Given the description of an element on the screen output the (x, y) to click on. 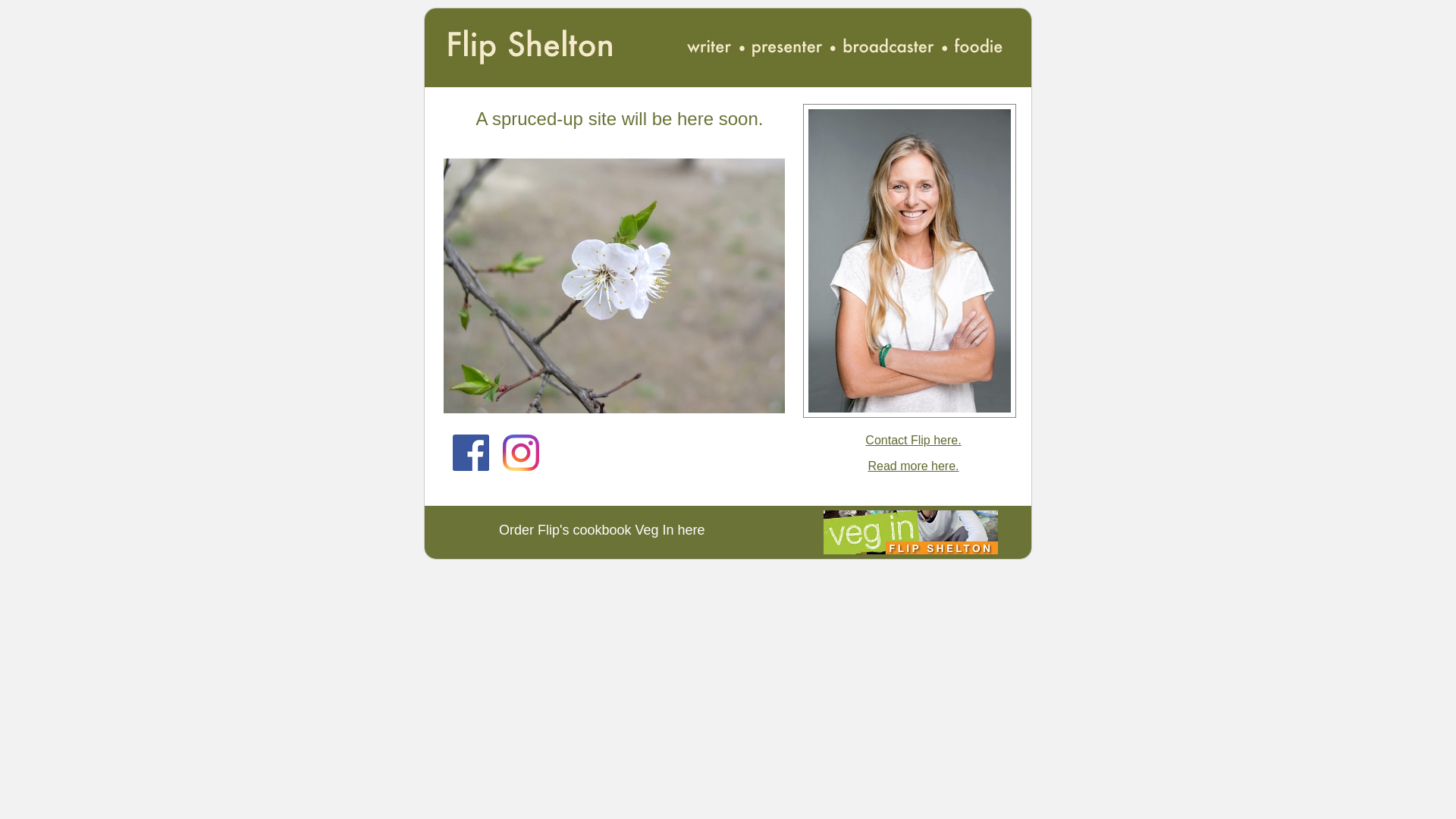
Order Flip's cookbook Veg In here Element type: text (601, 529)
Contact Flip here. Element type: text (912, 440)
Read more here. Element type: text (913, 465)
